Given the description of an element on the screen output the (x, y) to click on. 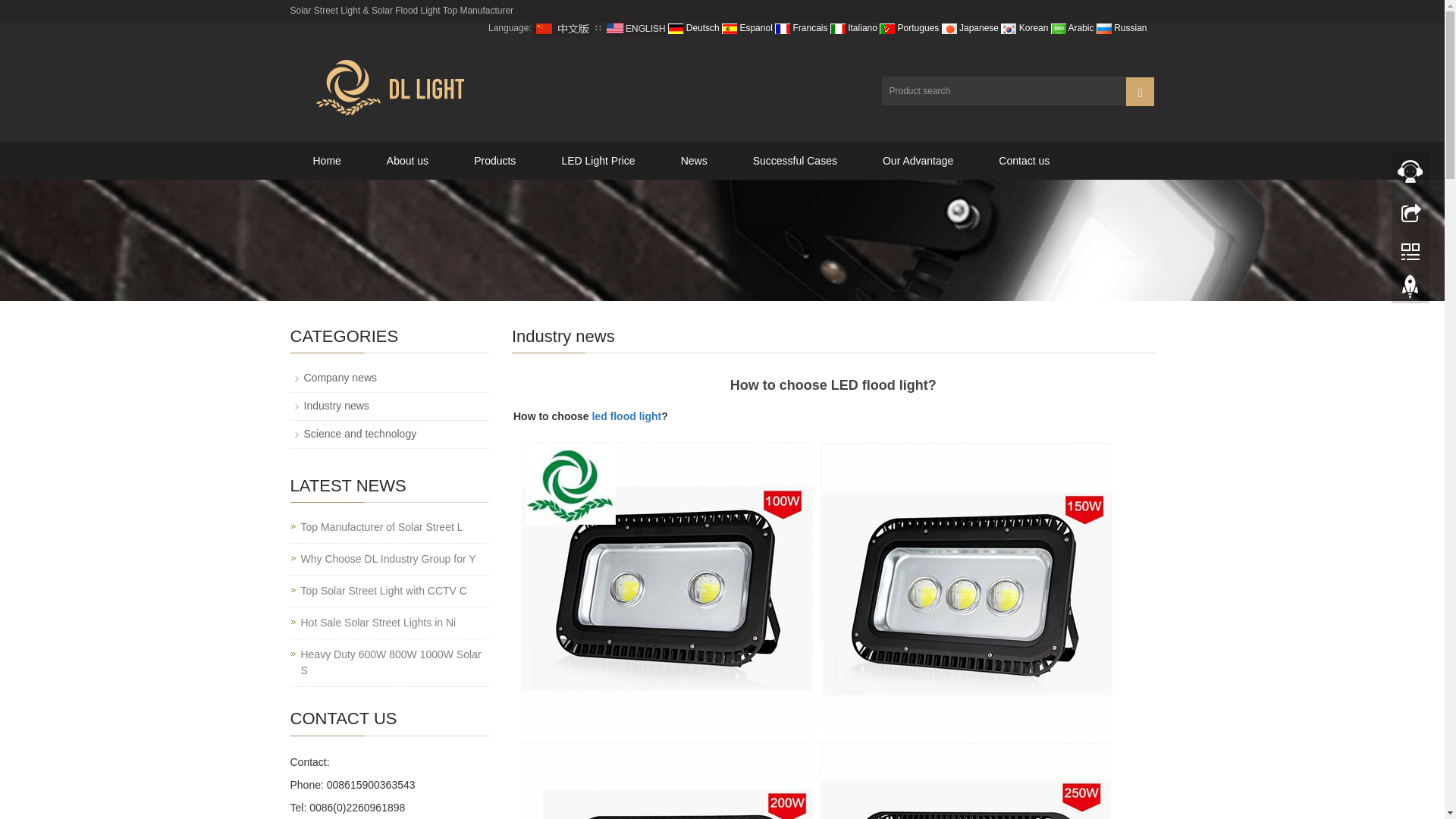
About us (407, 160)
Product search (1139, 91)
Espanol (747, 27)
Home (325, 160)
Korean (1024, 27)
Italiano (853, 27)
Deutsch (693, 27)
LED Light Price (598, 160)
Our Advantage (917, 160)
